Given the description of an element on the screen output the (x, y) to click on. 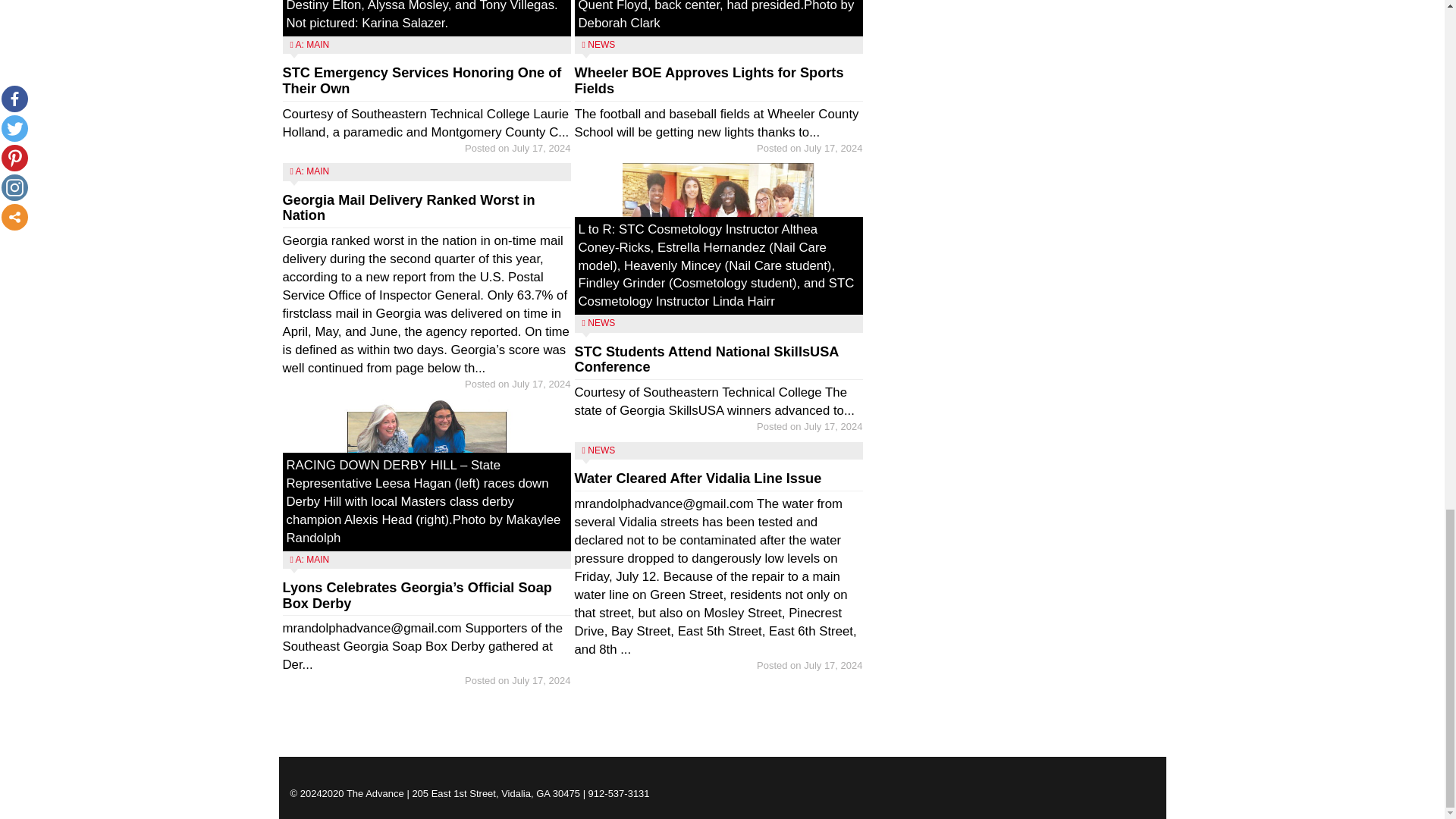
Georgia Mail Delivery Ranked Worst in Nation (408, 207)
A: MAIN (312, 559)
A: MAIN (312, 171)
A: MAIN (312, 44)
STC Emergency Services Honoring One of Their Own (421, 80)
